Given the description of an element on the screen output the (x, y) to click on. 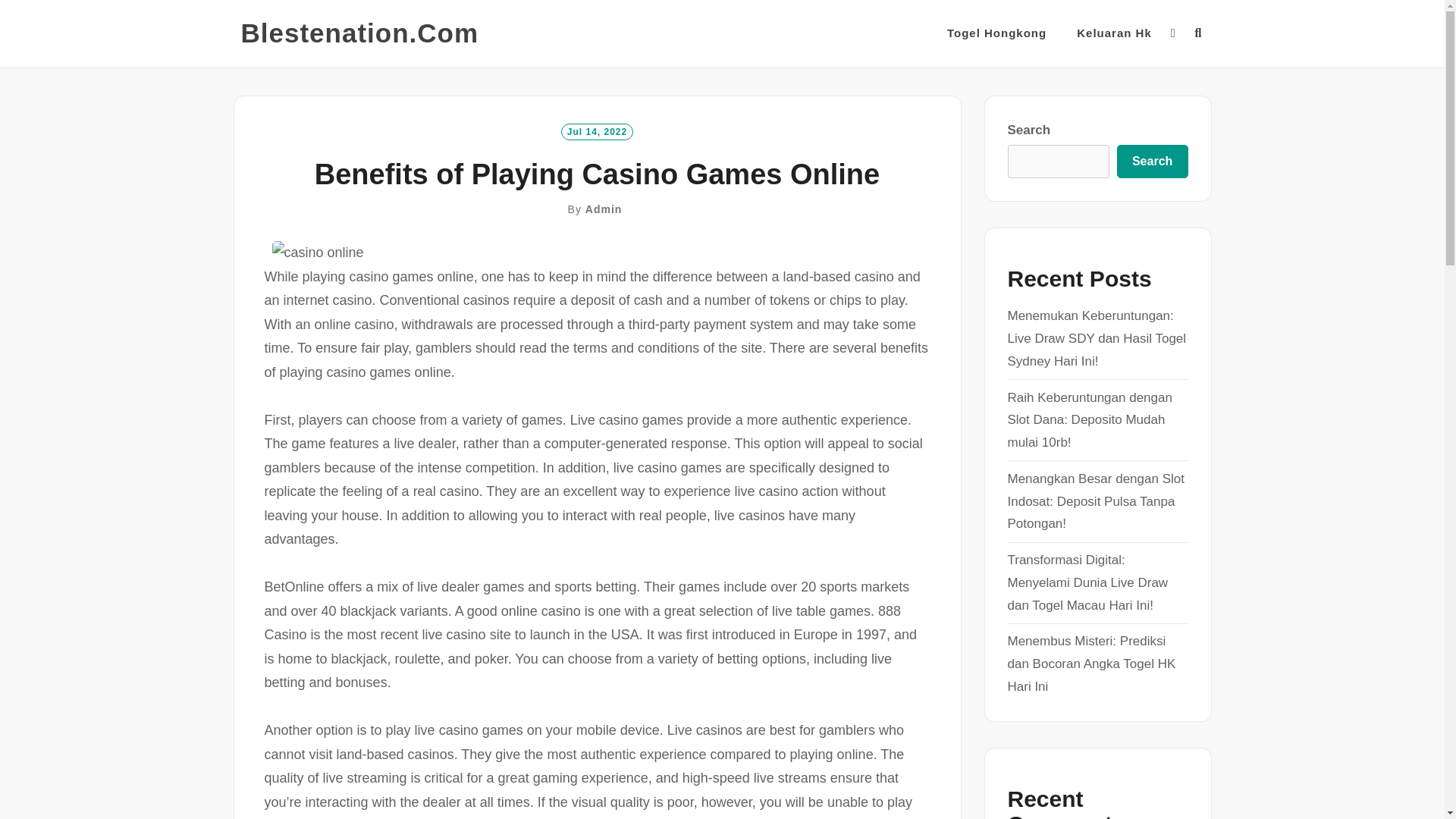
Keluaran Hk (1114, 33)
Admin (604, 209)
Search (1152, 161)
Togel Hongkong (996, 33)
Jul 14, 2022 (596, 130)
